Given the description of an element on the screen output the (x, y) to click on. 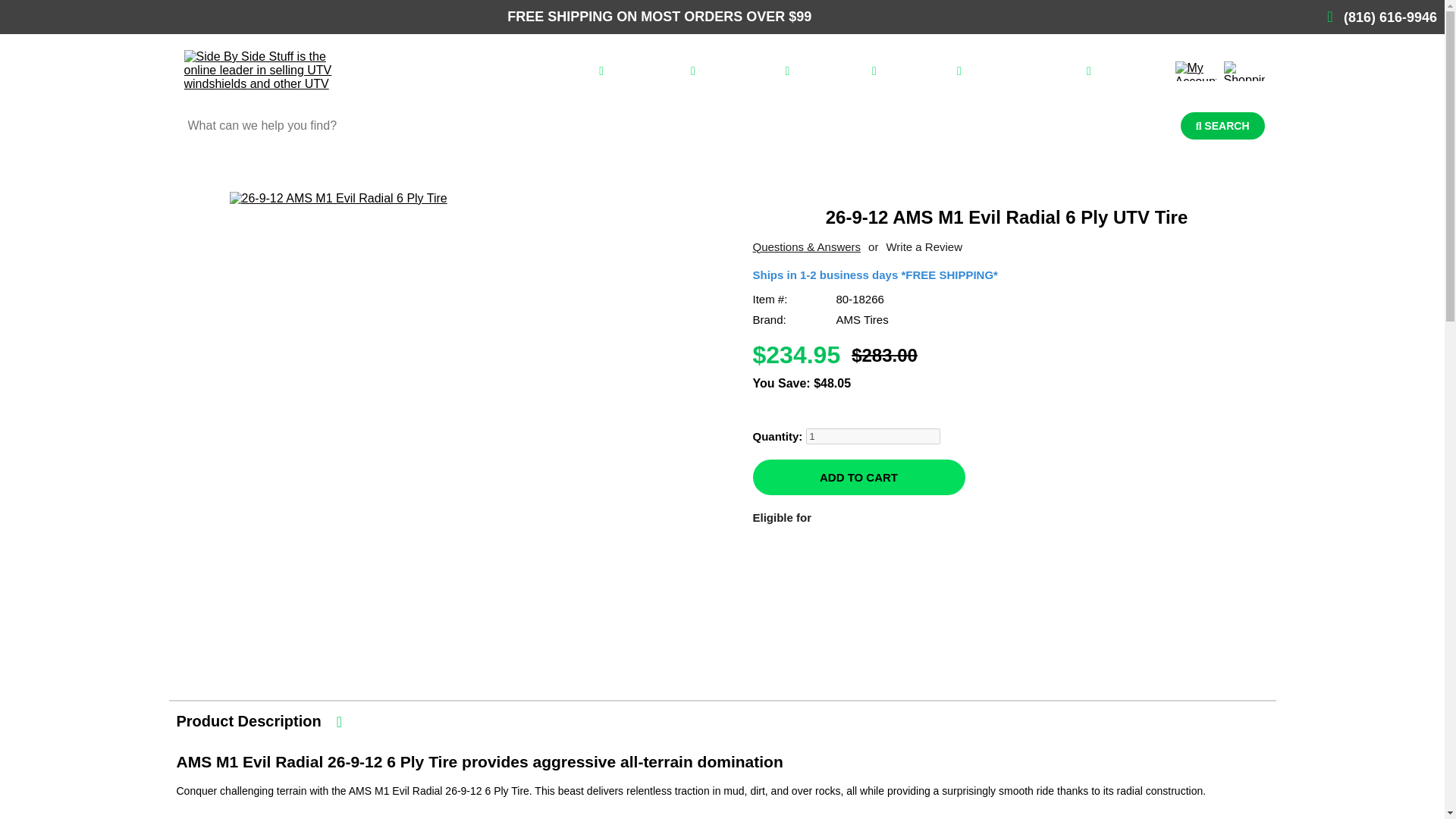
POLARIS (570, 71)
1 (873, 436)
Opens a widget where you can find more information (57, 792)
